Given the description of an element on the screen output the (x, y) to click on. 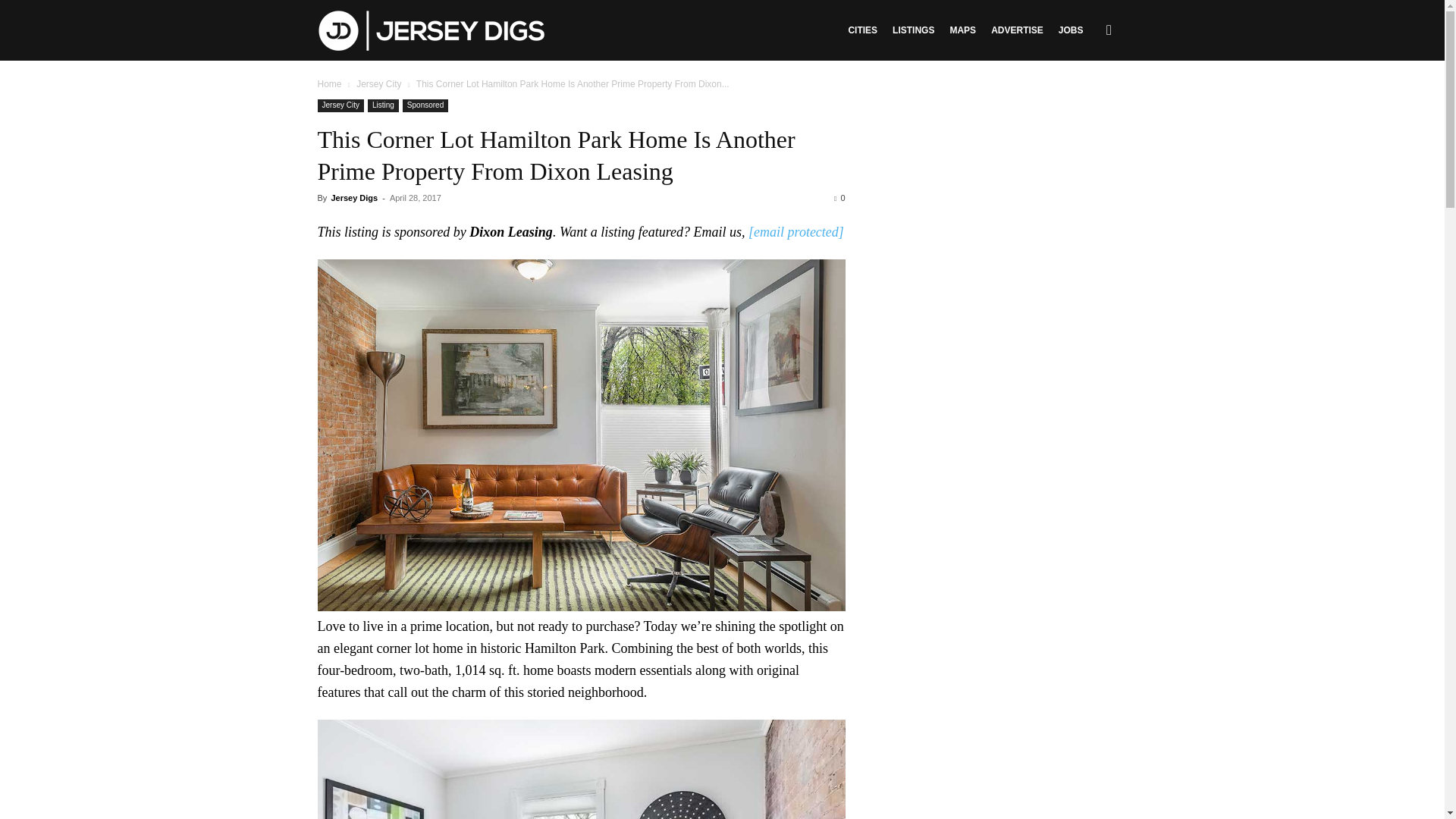
Search (1085, 102)
Jersey Digs (430, 30)
View all posts in Jersey City (378, 83)
